Given the description of an element on the screen output the (x, y) to click on. 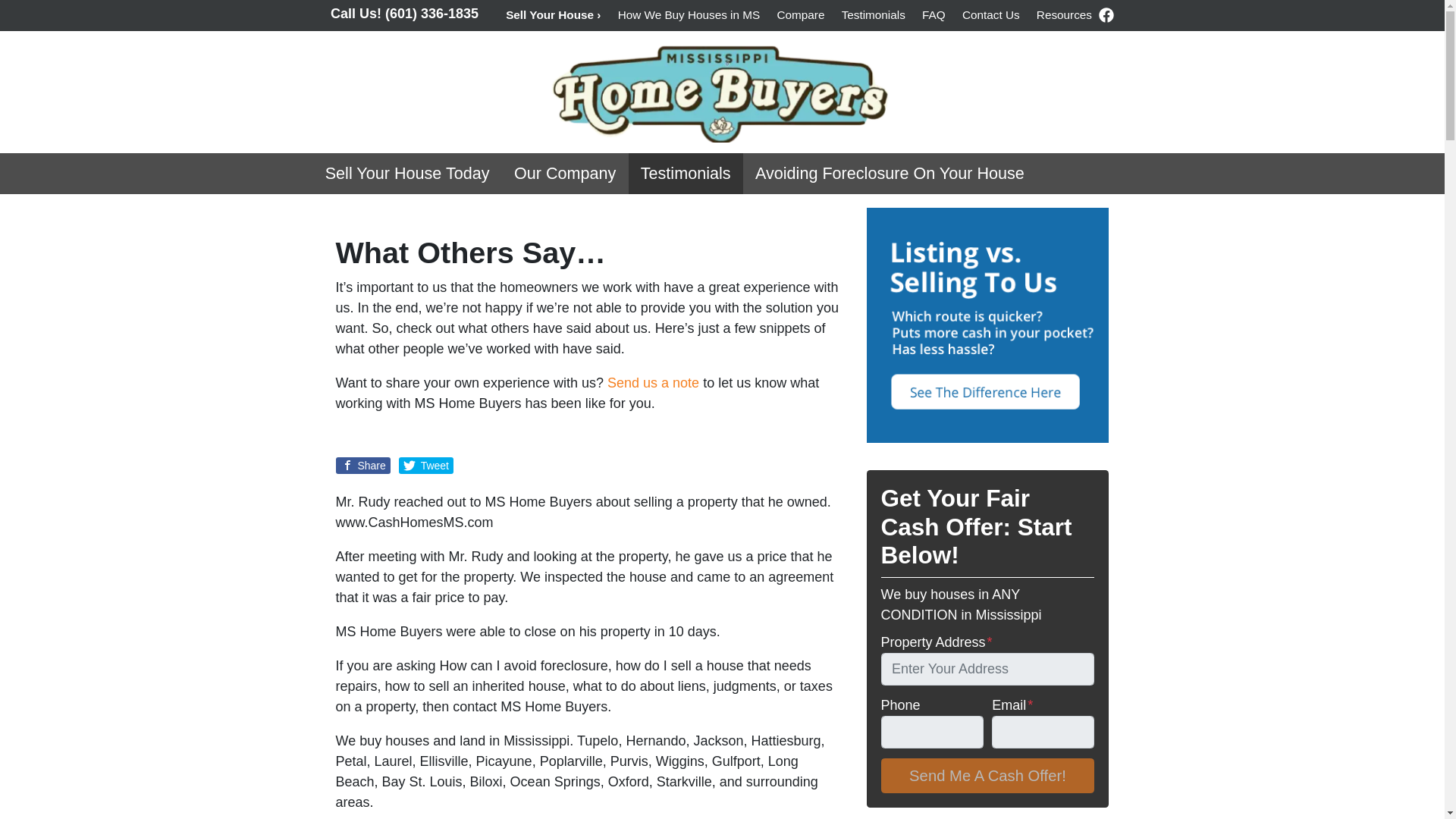
Testimonials (873, 15)
Sell Your House Today (406, 173)
Avoiding Foreclosure On Your House (889, 173)
Testimonials (685, 173)
Resources (1064, 15)
Send Me A Cash Offer! (987, 775)
FAQ (933, 15)
Our Company (565, 173)
Sell Your House Today (406, 173)
Tweet (425, 465)
